Given the description of an element on the screen output the (x, y) to click on. 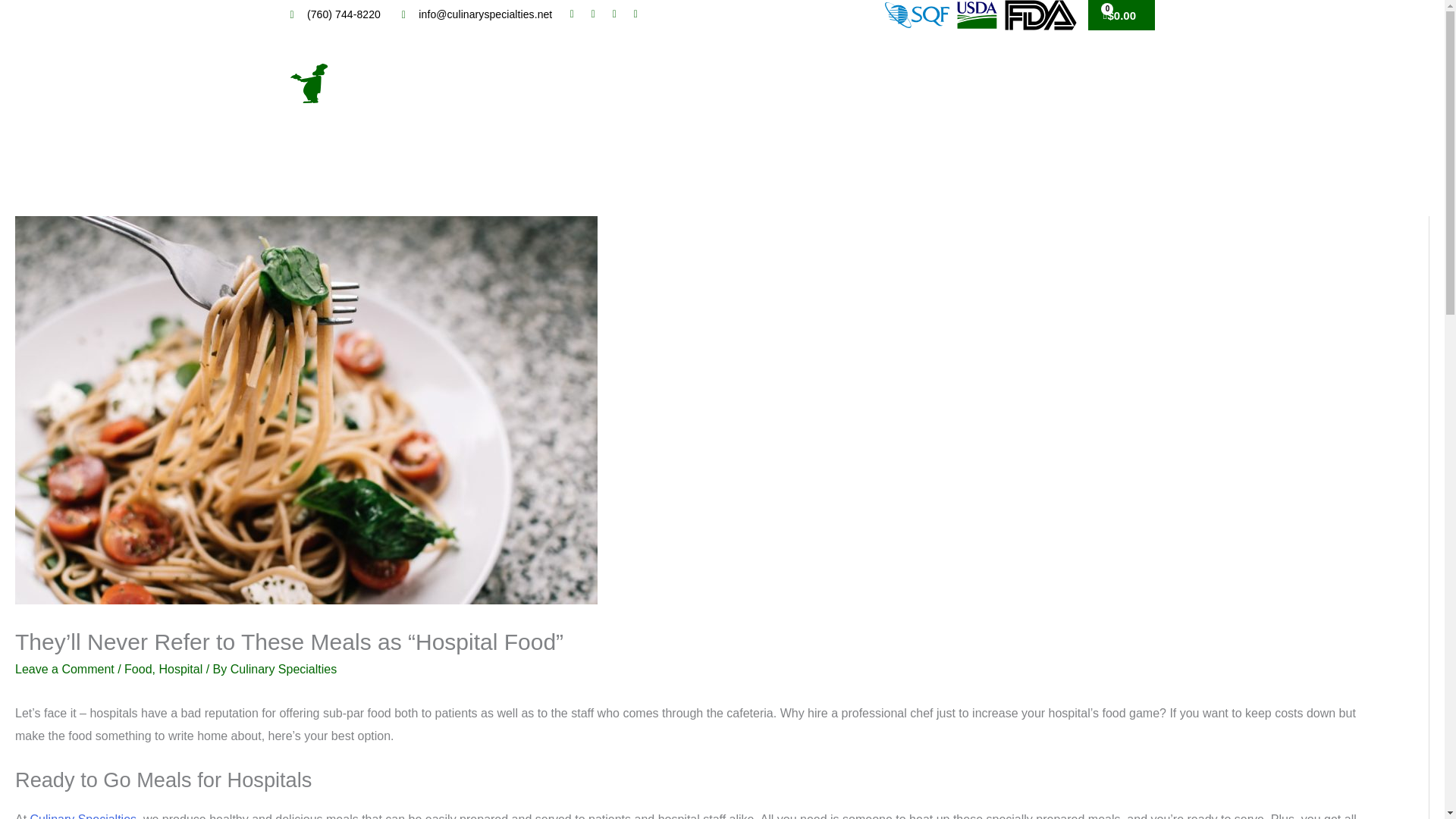
View all posts by Culinary Specialties (283, 668)
PRODUCTS (726, 83)
WHOLESALE (845, 83)
